Given the description of an element on the screen output the (x, y) to click on. 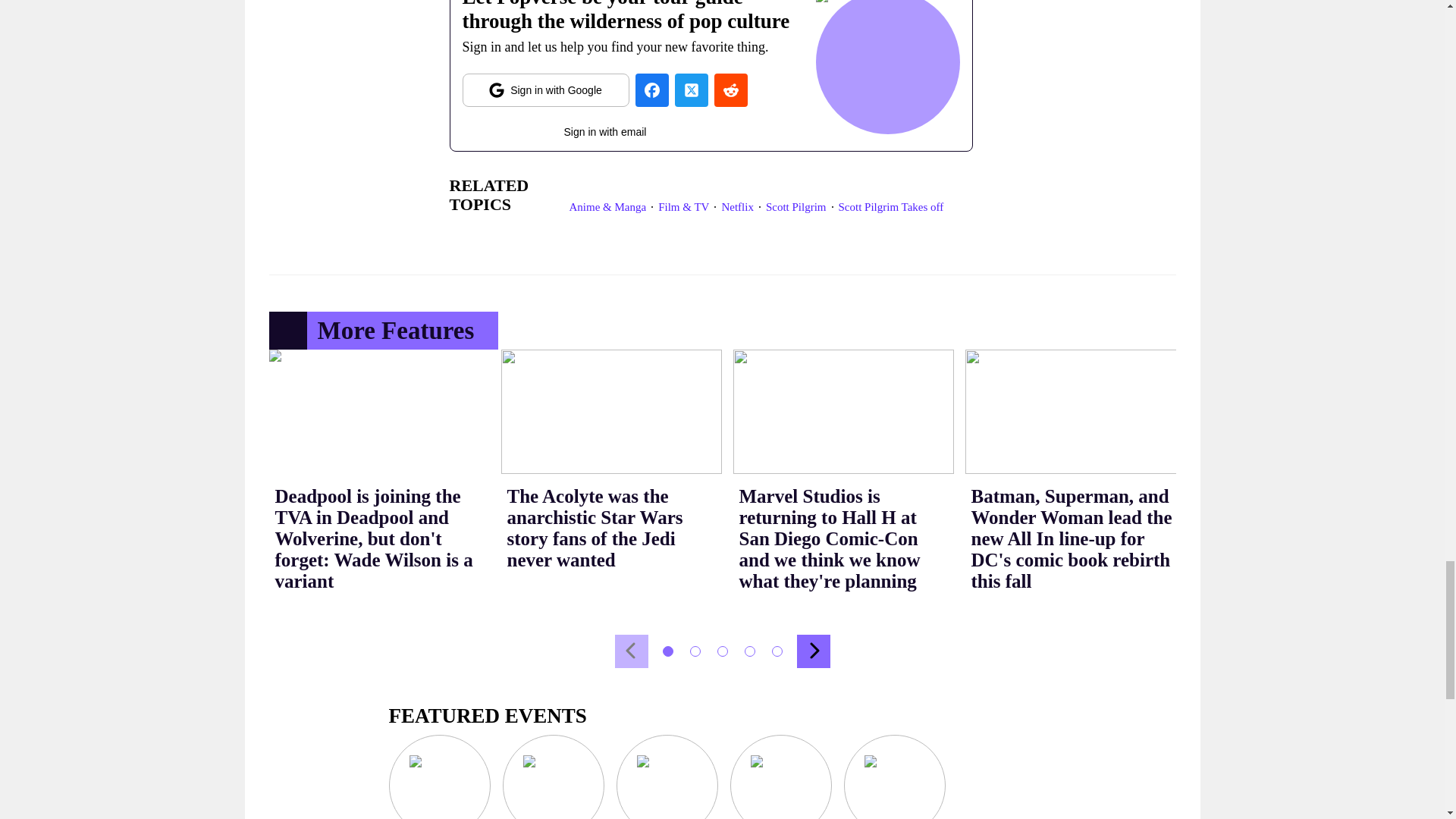
google (545, 90)
Sign in with email (605, 128)
facebook (651, 90)
Sign in with Google (545, 90)
